Given the description of an element on the screen output the (x, y) to click on. 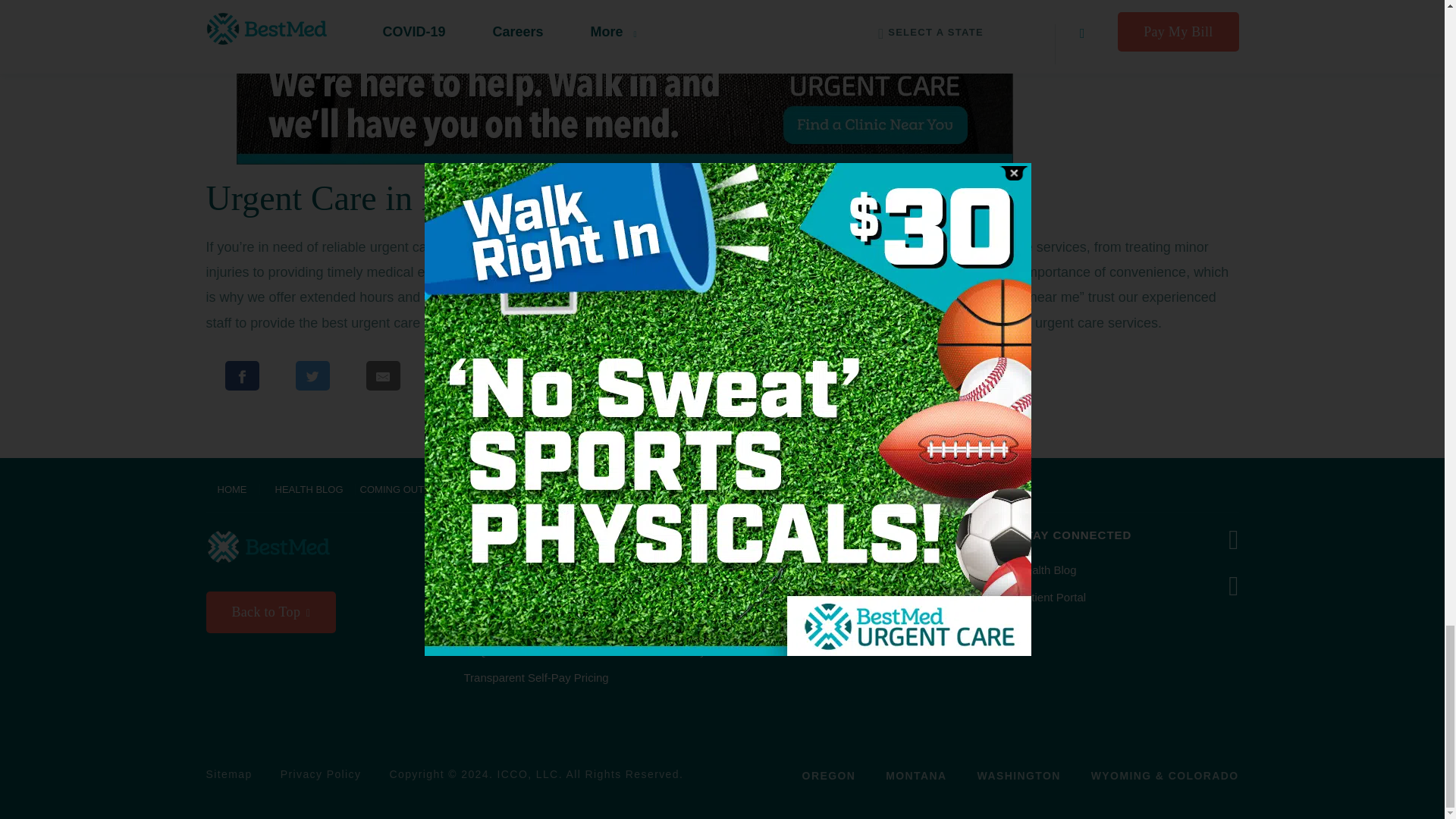
HEALTH BLOG (309, 489)
BestMed Urgent Care in Billings (695, 322)
HOME (233, 489)
Back to Top (271, 612)
BestMed Urgent Care Billings (803, 272)
